Given the description of an element on the screen output the (x, y) to click on. 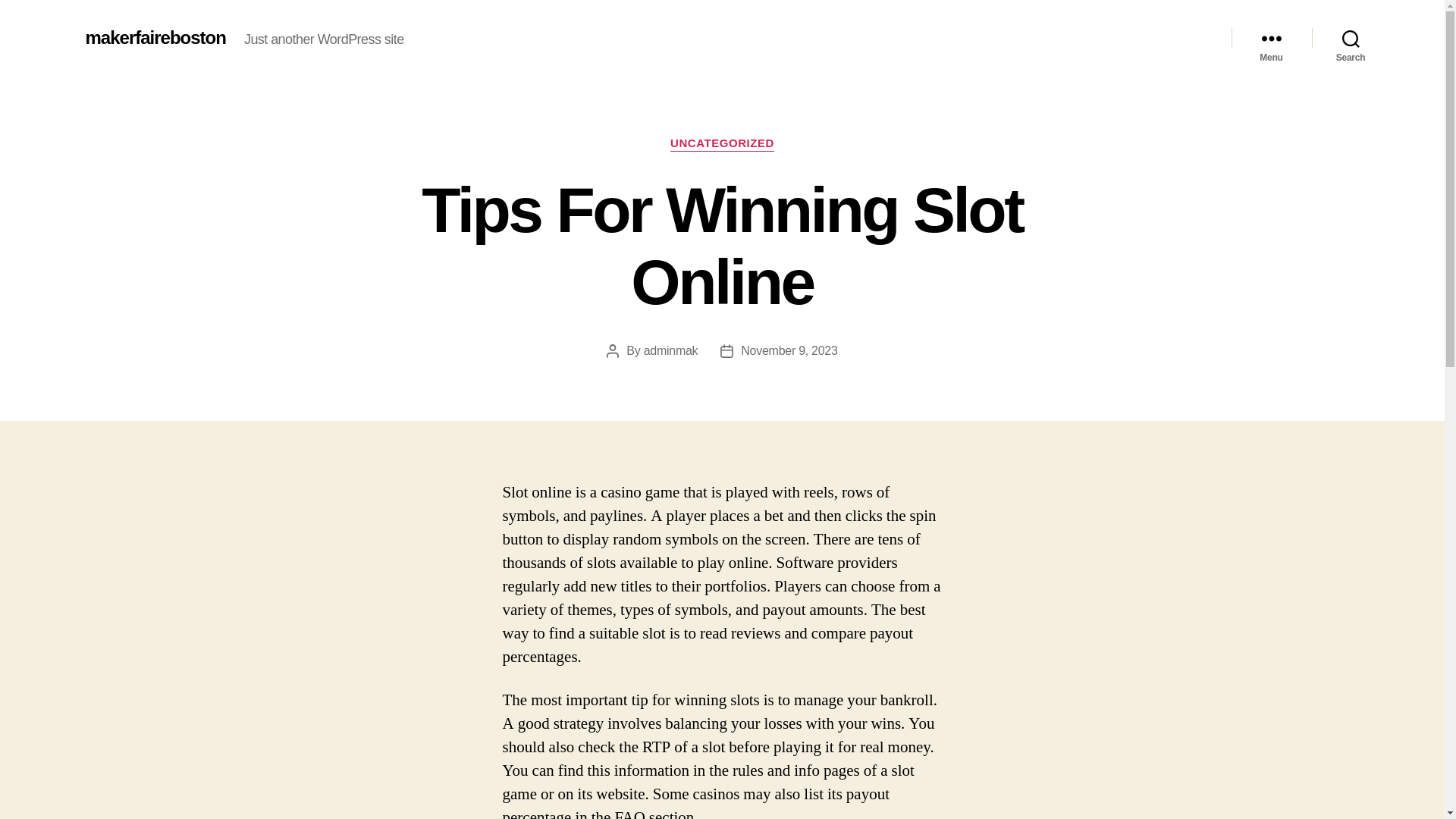
November 9, 2023 (789, 350)
makerfaireboston (154, 37)
Search (1350, 37)
UNCATEGORIZED (721, 143)
adminmak (670, 350)
Menu (1271, 37)
